Given the description of an element on the screen output the (x, y) to click on. 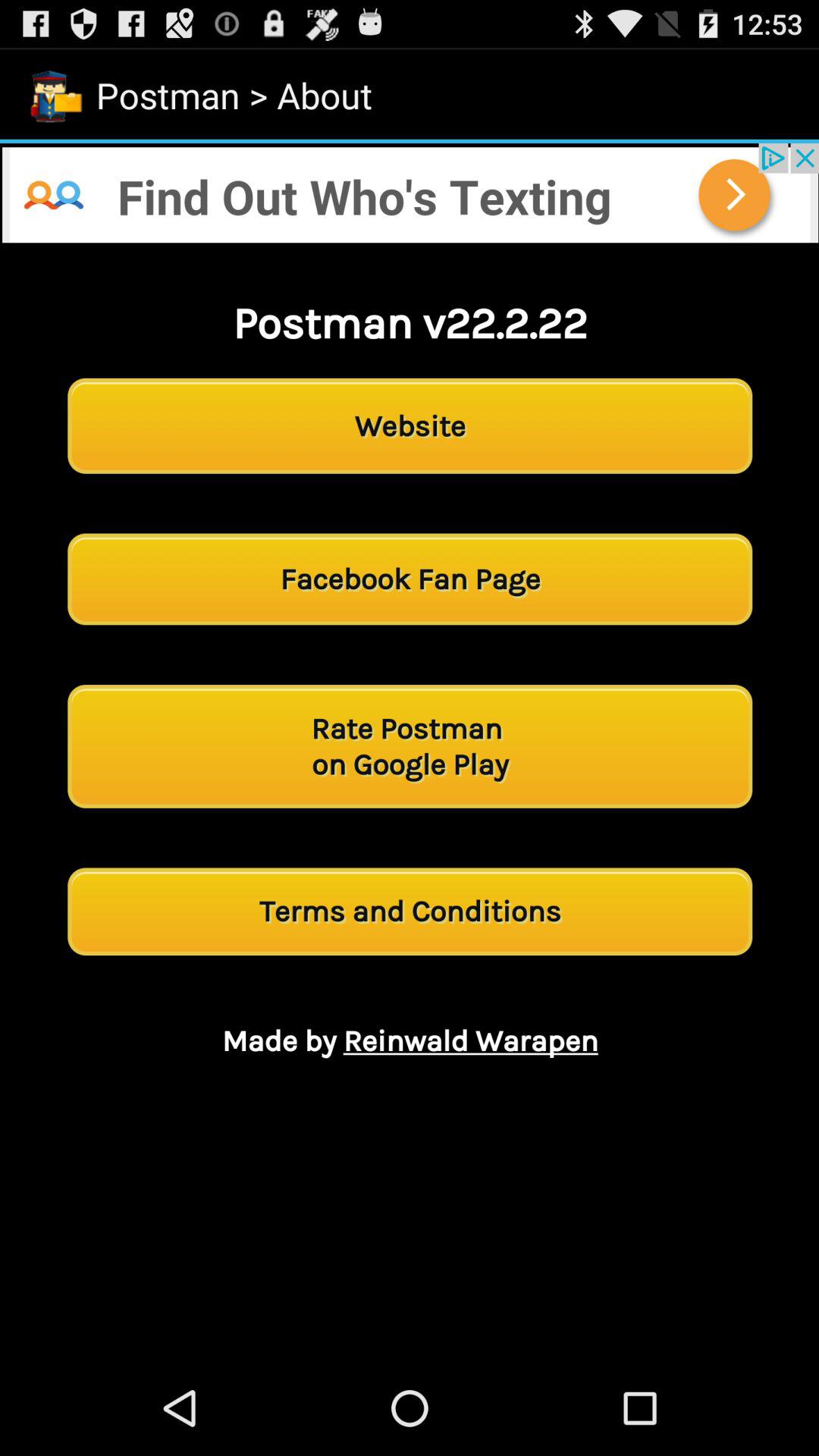
open the advertisement link (409, 192)
